Given the description of an element on the screen output the (x, y) to click on. 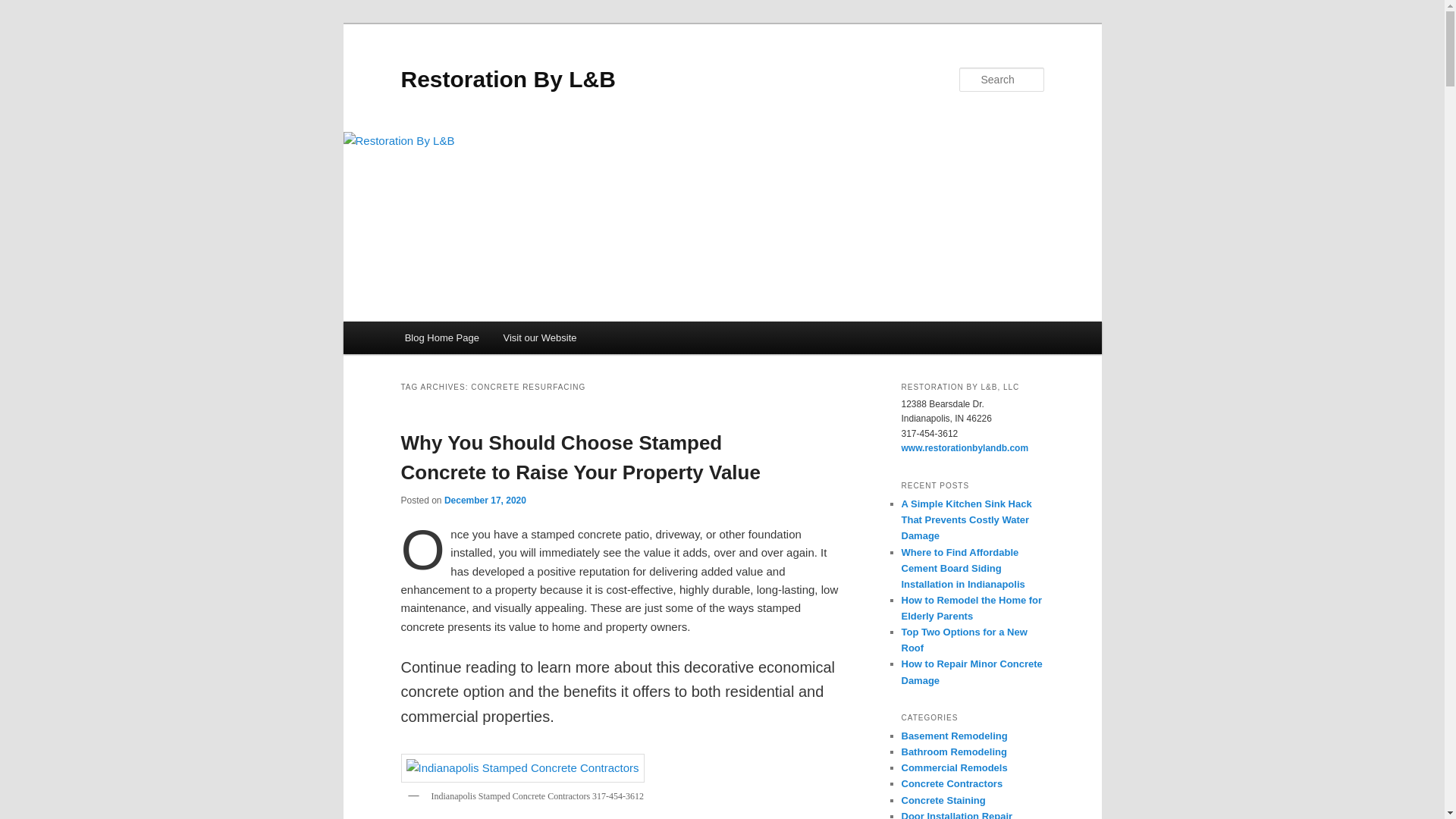
Blog Home Page (442, 337)
December 17, 2020 (484, 500)
5:41 pm (484, 500)
Search (24, 8)
Visit our Website (540, 337)
